Given the description of an element on the screen output the (x, y) to click on. 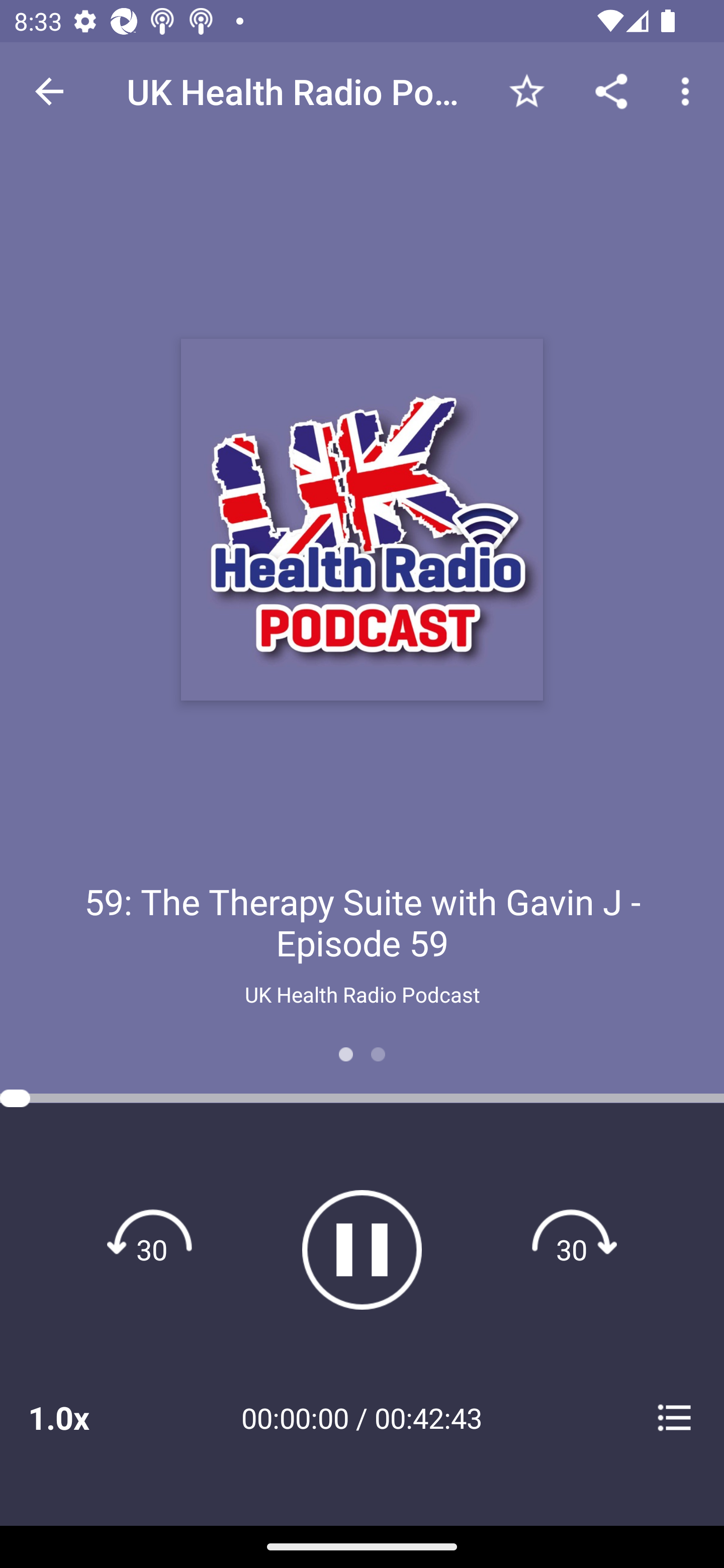
Navigate up (49, 91)
Add to Favorites (526, 90)
Share... (611, 90)
More options (688, 90)
UK Health Radio Podcast (361, 994)
Pause (361, 1249)
Rewind (151, 1249)
Fast forward (571, 1249)
1.0x Playback Speeds (84, 1417)
00:42:43 (428, 1417)
